Given the description of an element on the screen output the (x, y) to click on. 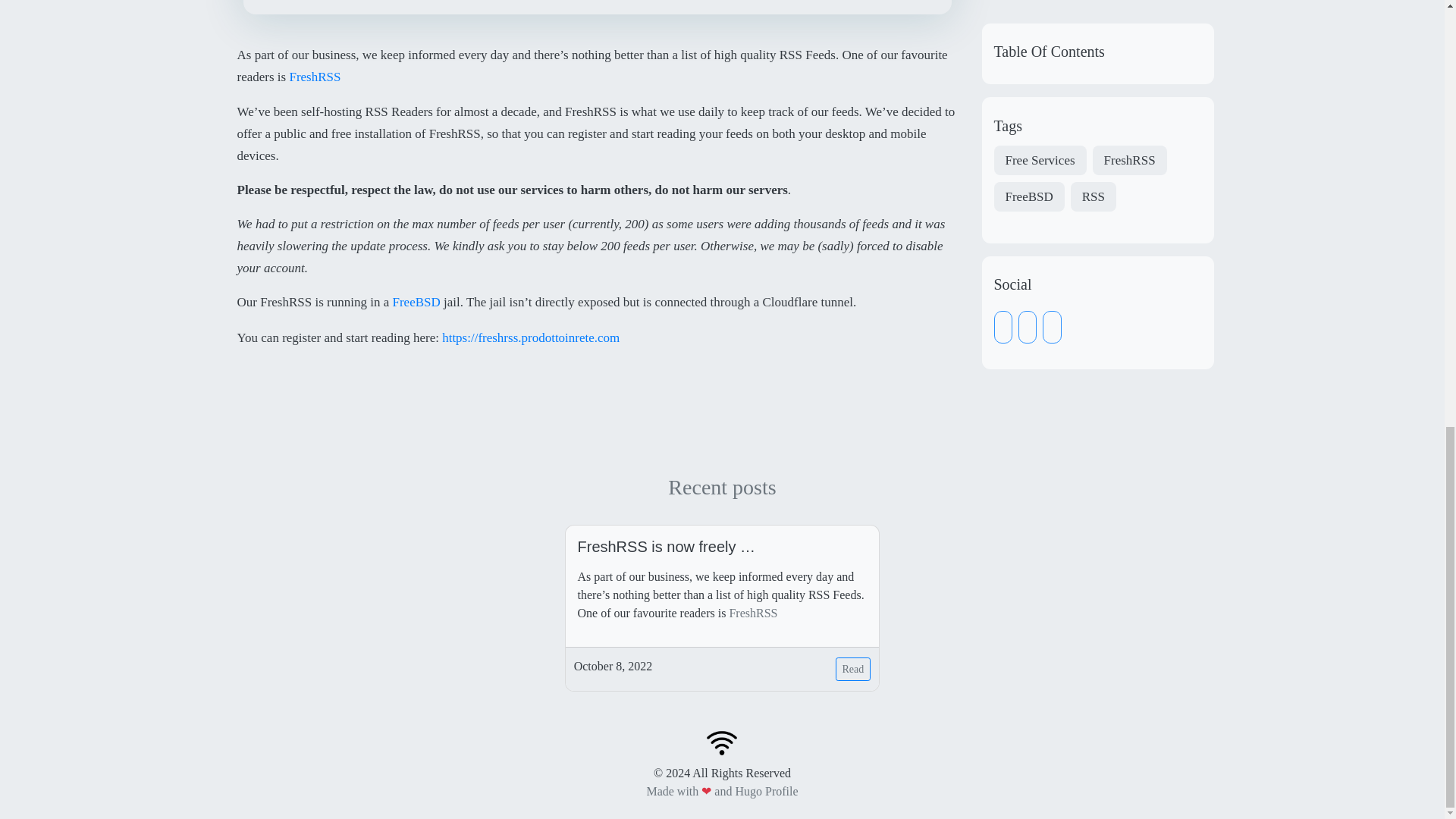
FreshRSS (753, 612)
FreeBSD (415, 303)
FreshRSS (314, 78)
prodottoinrete.it Loves Open Source (721, 740)
Read (852, 668)
FreshRSS is now freely available (722, 546)
Designed and developed by gurusabarish (766, 790)
Hugo Profile (766, 790)
